Given the description of an element on the screen output the (x, y) to click on. 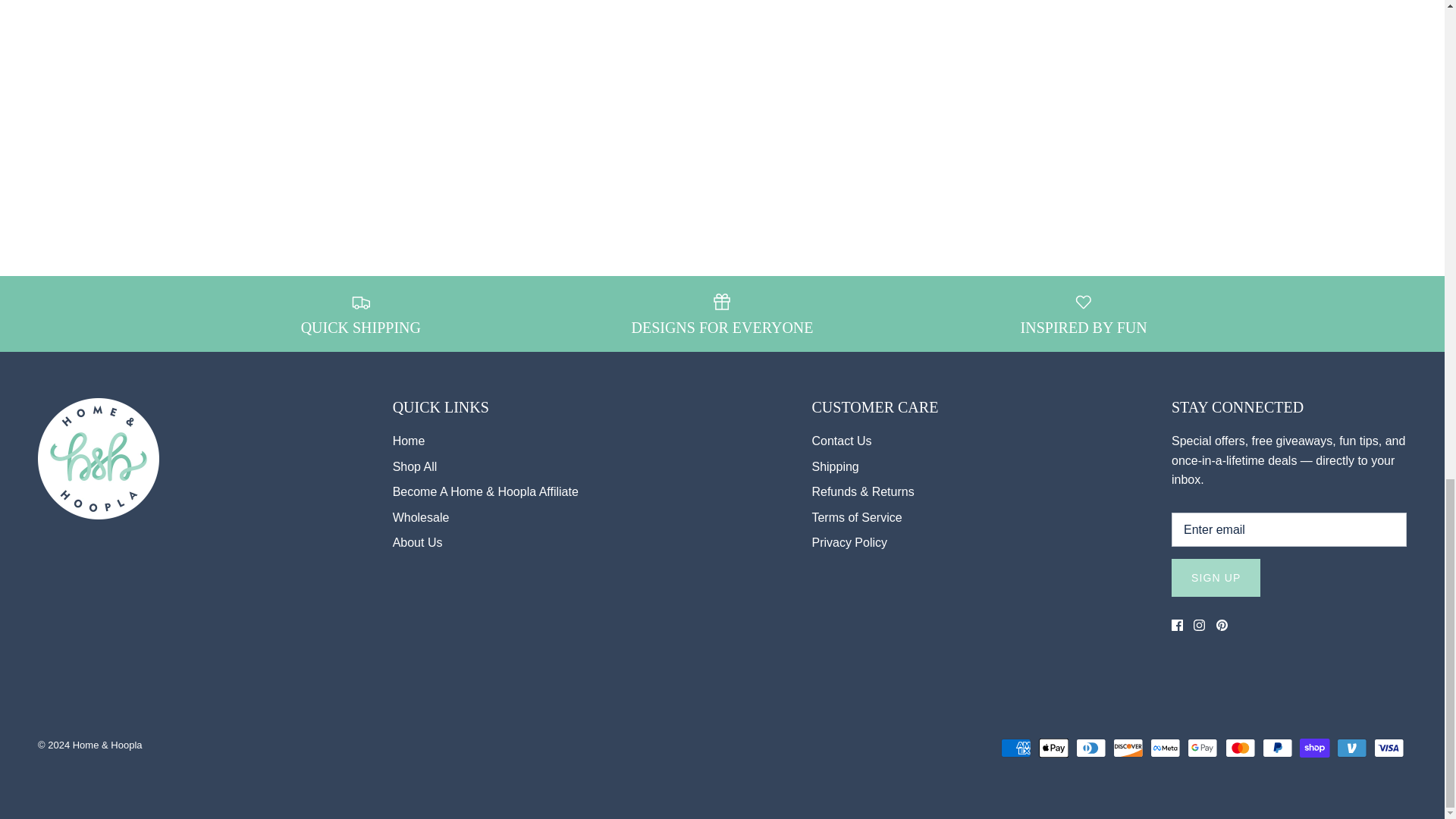
Pinterest (1221, 624)
Instagram (1199, 624)
Apple Pay (1053, 747)
Diners Club (1090, 747)
Meta Pay (1165, 747)
Facebook (1177, 624)
Discover (1127, 747)
American Express (1015, 747)
